Given the description of an element on the screen output the (x, y) to click on. 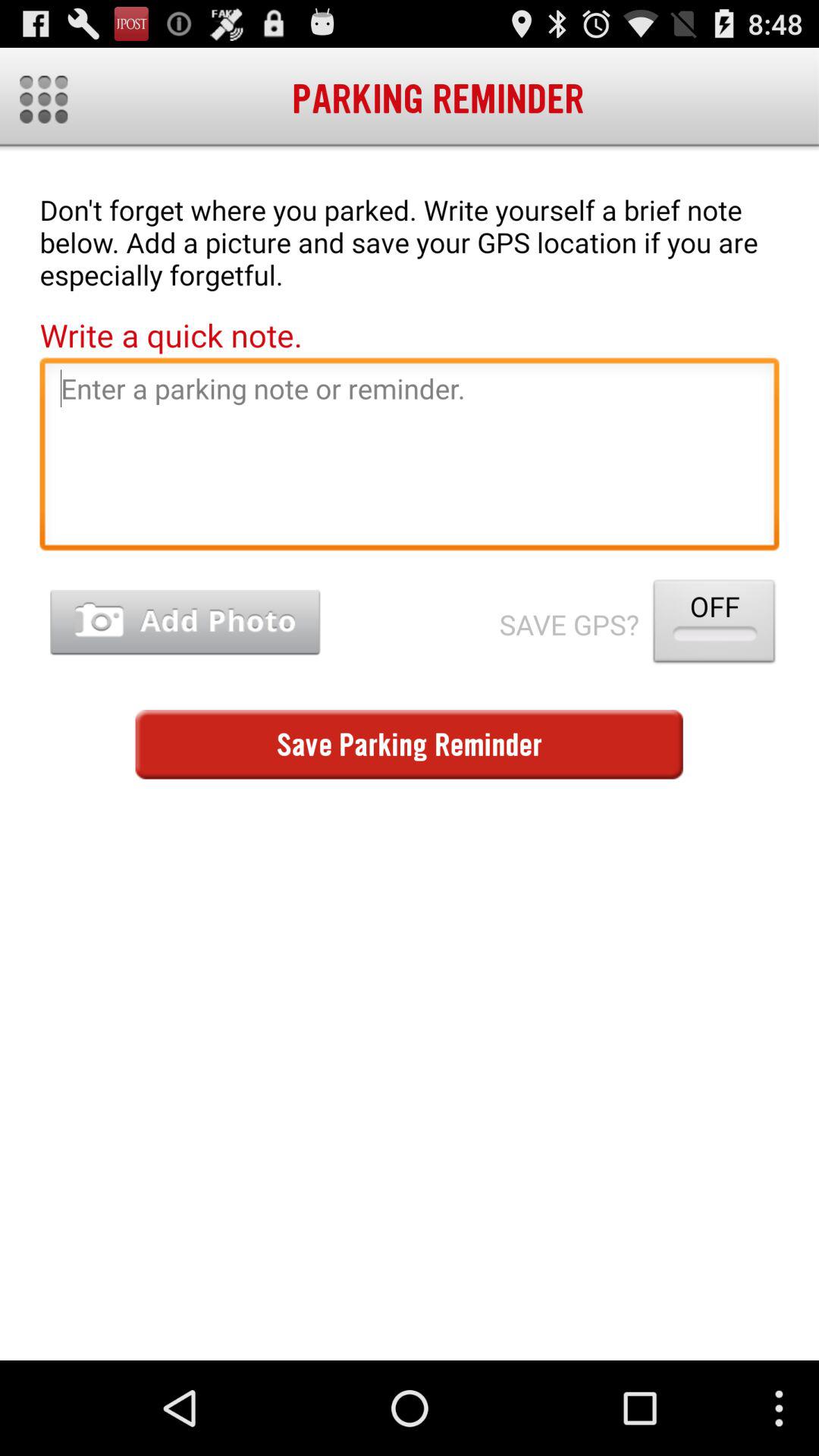
launch the icon to the left of the parking reminder app (43, 99)
